Given the description of an element on the screen output the (x, y) to click on. 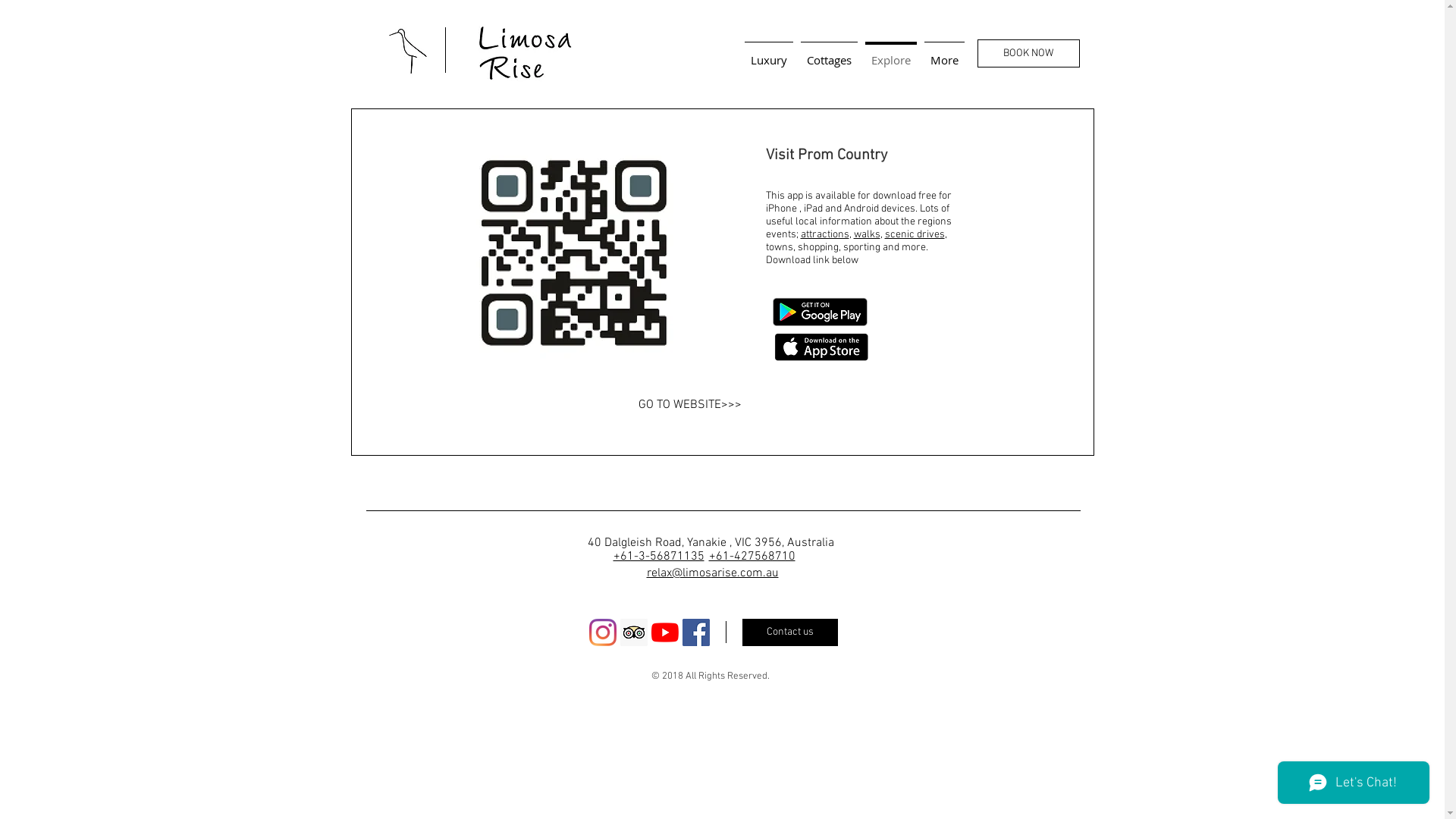
walks Element type: text (866, 234)
attractions Element type: text (824, 234)
GO TO WEBSITE>>> Element type: text (724, 404)
BOOK NOW Element type: text (1027, 53)
relax@limos Element type: text (678, 572)
arise.com.au Element type: text (744, 572)
Explore Element type: text (890, 52)
scenic drives Element type: text (914, 234)
Cottages Element type: text (828, 52)
+61-3-56871135 Element type: text (657, 556)
Contact us Element type: text (789, 632)
+61-427568710 Element type: text (751, 556)
Luxury Element type: text (768, 52)
